Given the description of an element on the screen output the (x, y) to click on. 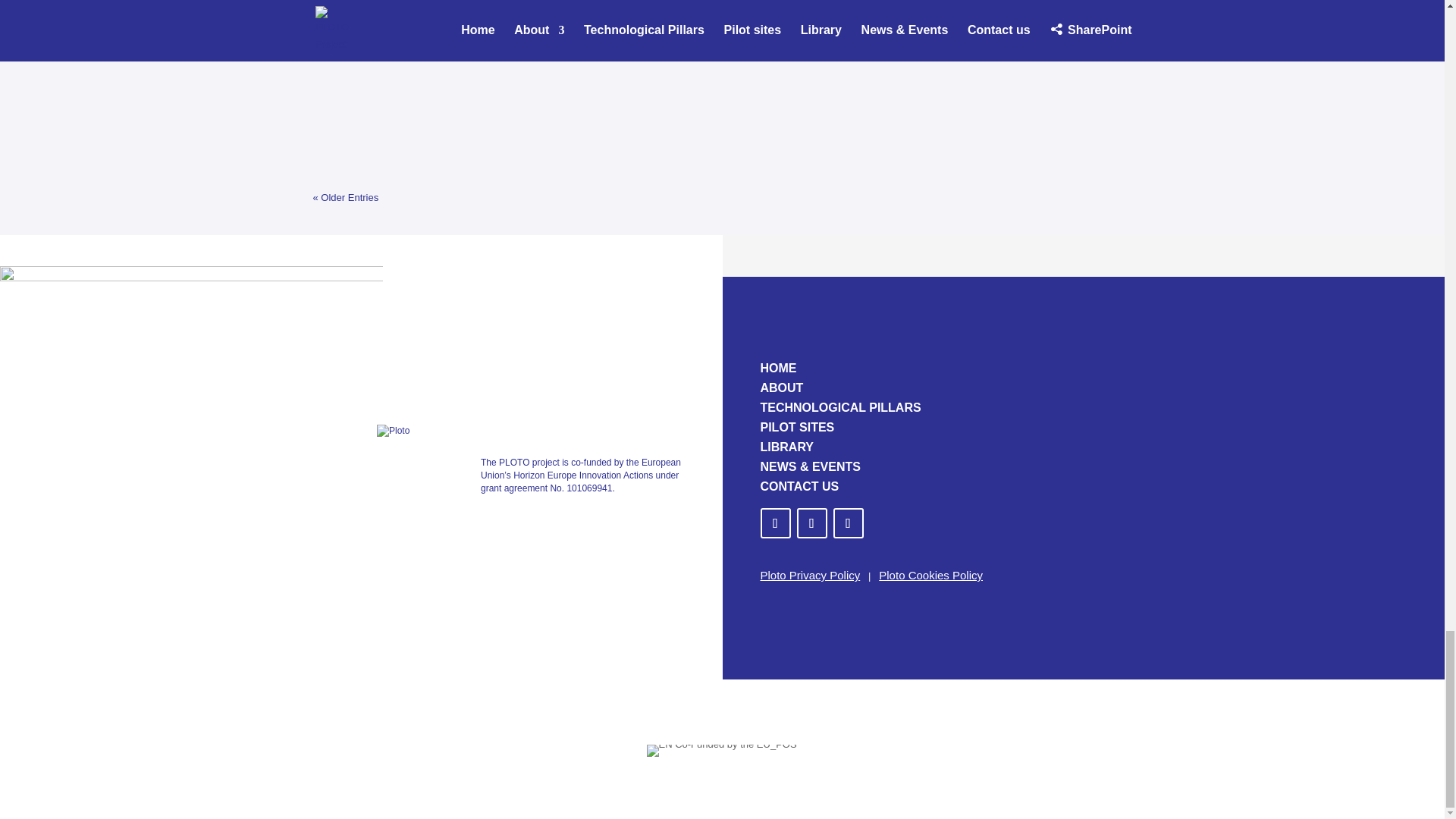
CONTACT US (799, 486)
Ploto Cookies Policy (930, 574)
Follow on X (775, 522)
waves-footer (191, 337)
Follow on LinkedIn (811, 522)
Ploto Privacy Policy (810, 574)
LIBRARY (786, 446)
ABOUT (781, 387)
Follow on Youtube (847, 522)
HOME (778, 367)
